Given the description of an element on the screen output the (x, y) to click on. 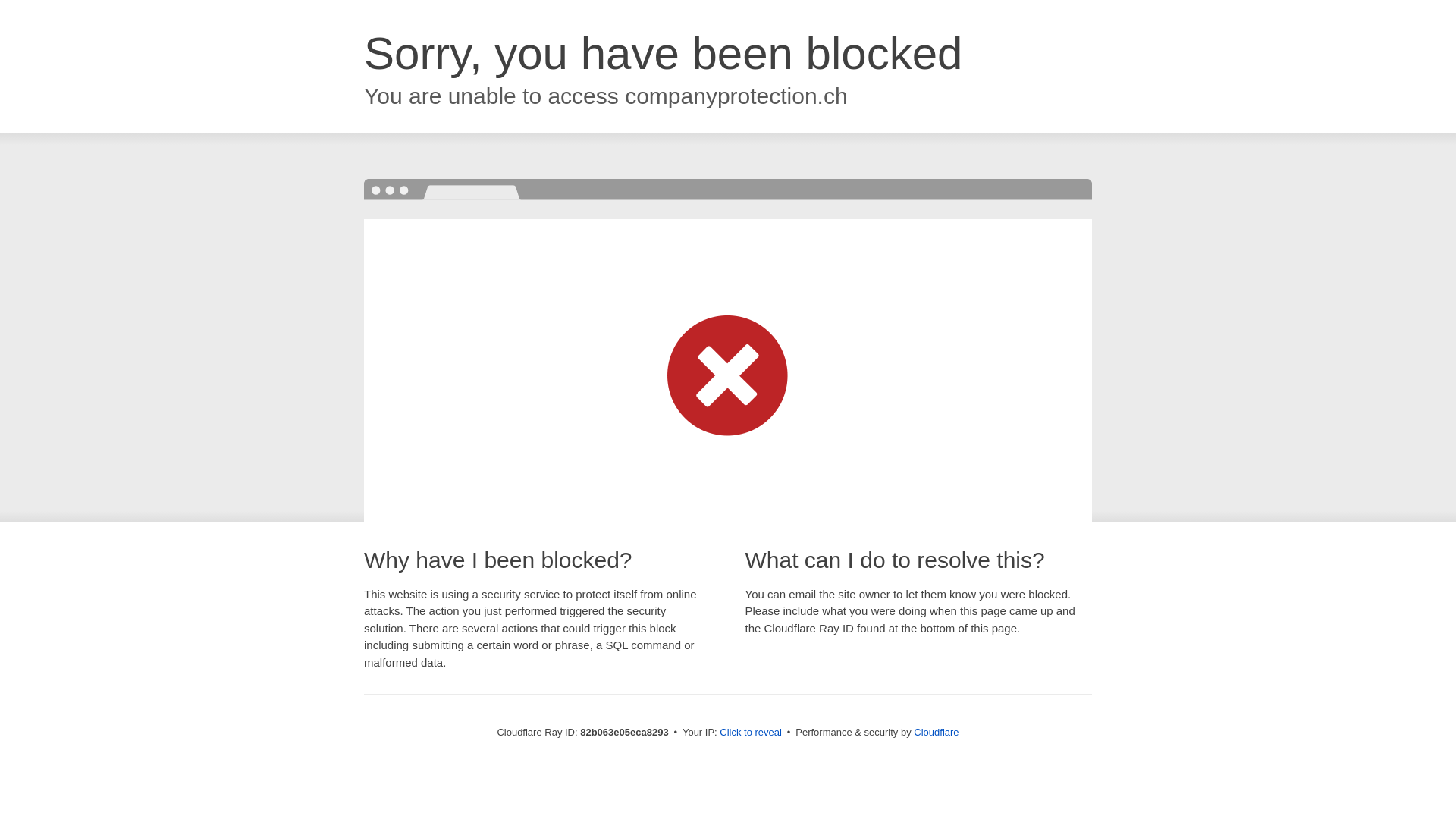
Cloudflare Element type: text (935, 731)
Click to reveal Element type: text (750, 732)
